Given the description of an element on the screen output the (x, y) to click on. 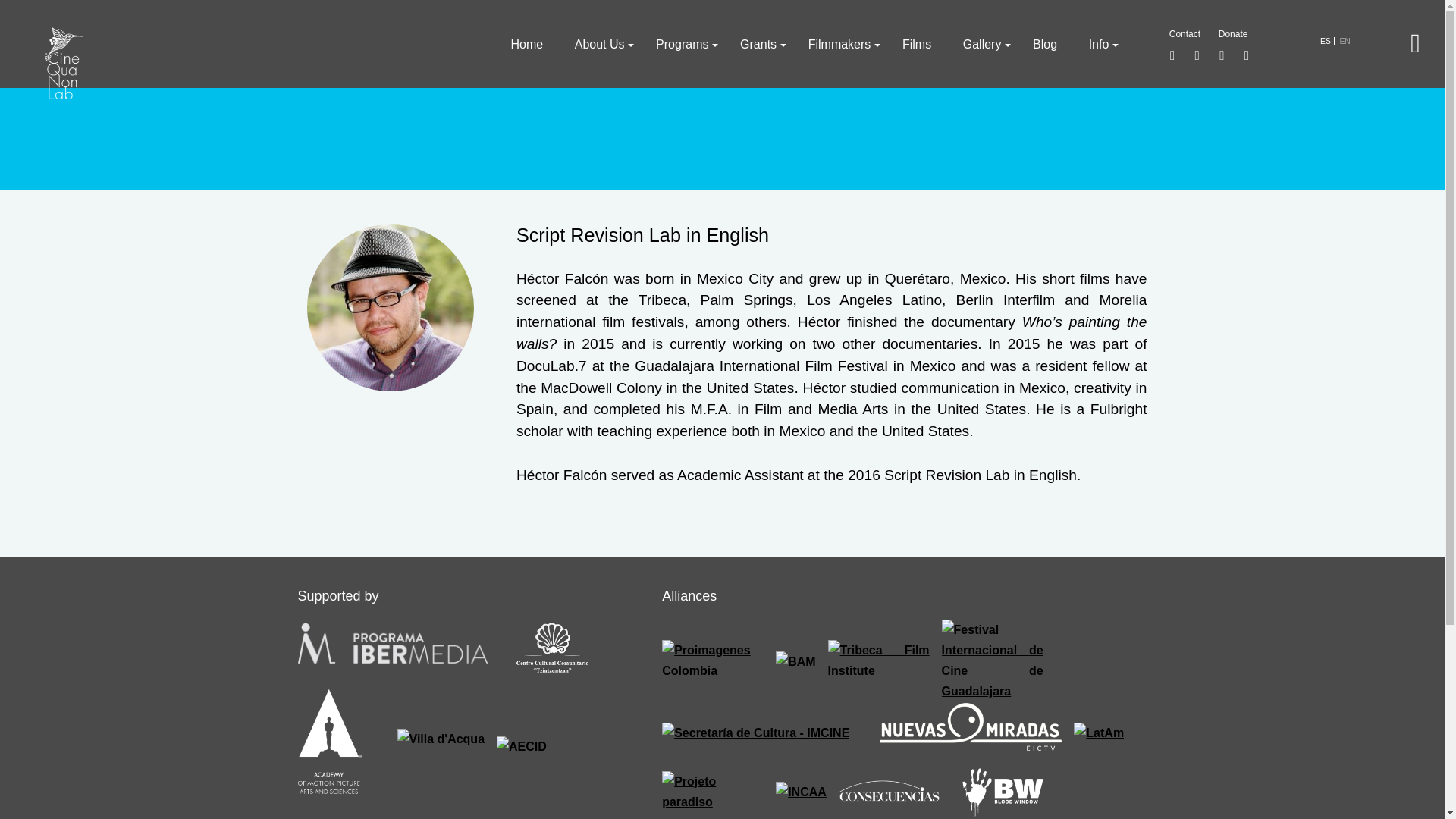
Home (526, 43)
Grants (758, 43)
Filmmakers (838, 43)
Programs (681, 43)
About Us (598, 43)
